Given the description of an element on the screen output the (x, y) to click on. 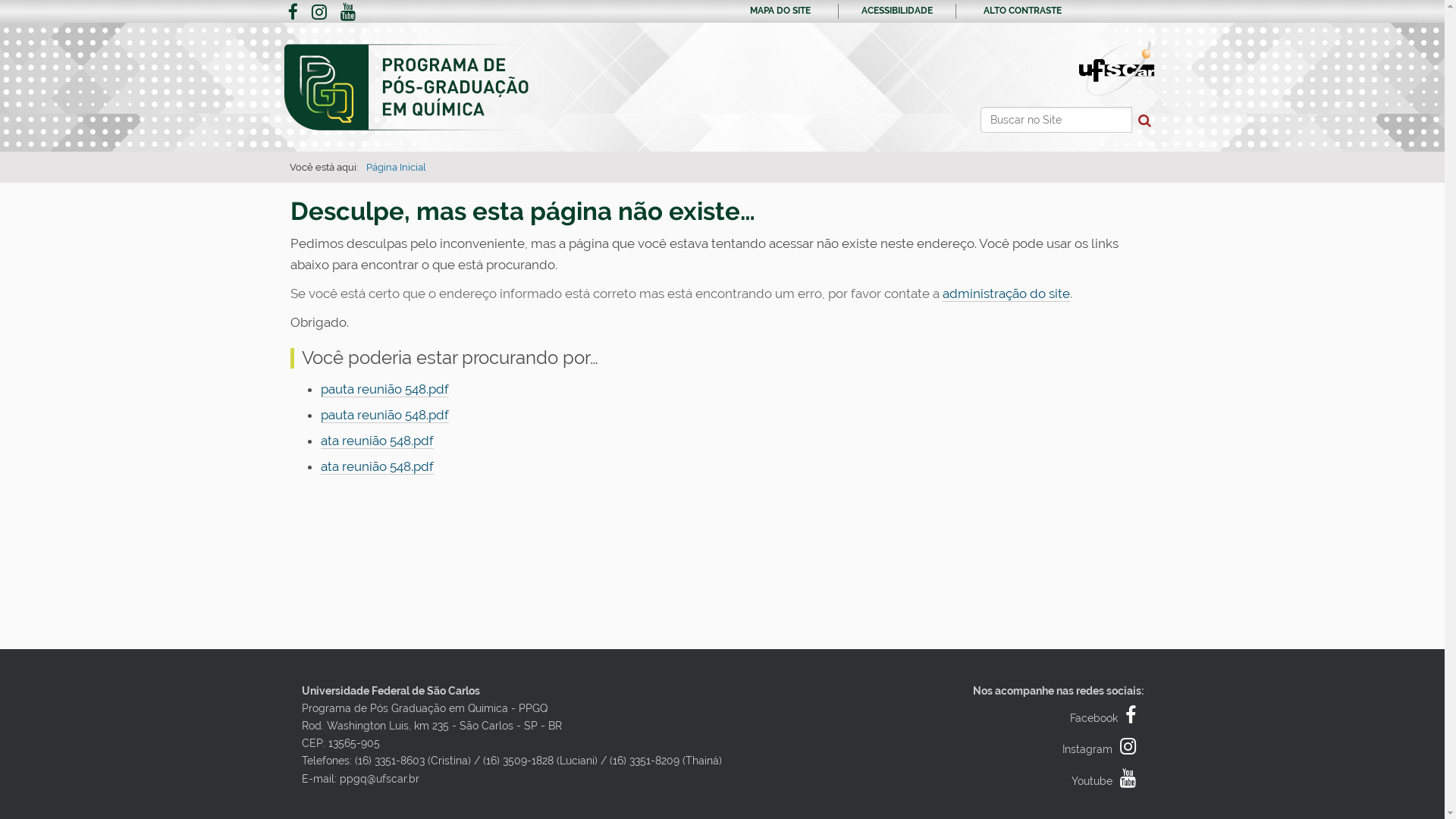
Youtube Element type: text (1106, 781)
ALTO CONTRASTE Element type: text (1021, 10)
Facebook Element type: text (1105, 718)
Portal UFSCar Element type: hover (1116, 66)
Buscar no Site Element type: hover (1055, 119)
YouTube Element type: hover (347, 13)
MAPA DO SITE Element type: text (779, 10)
ACESSIBILIDADE Element type: text (896, 10)
Instagram Element type: text (1101, 749)
